Given the description of an element on the screen output the (x, y) to click on. 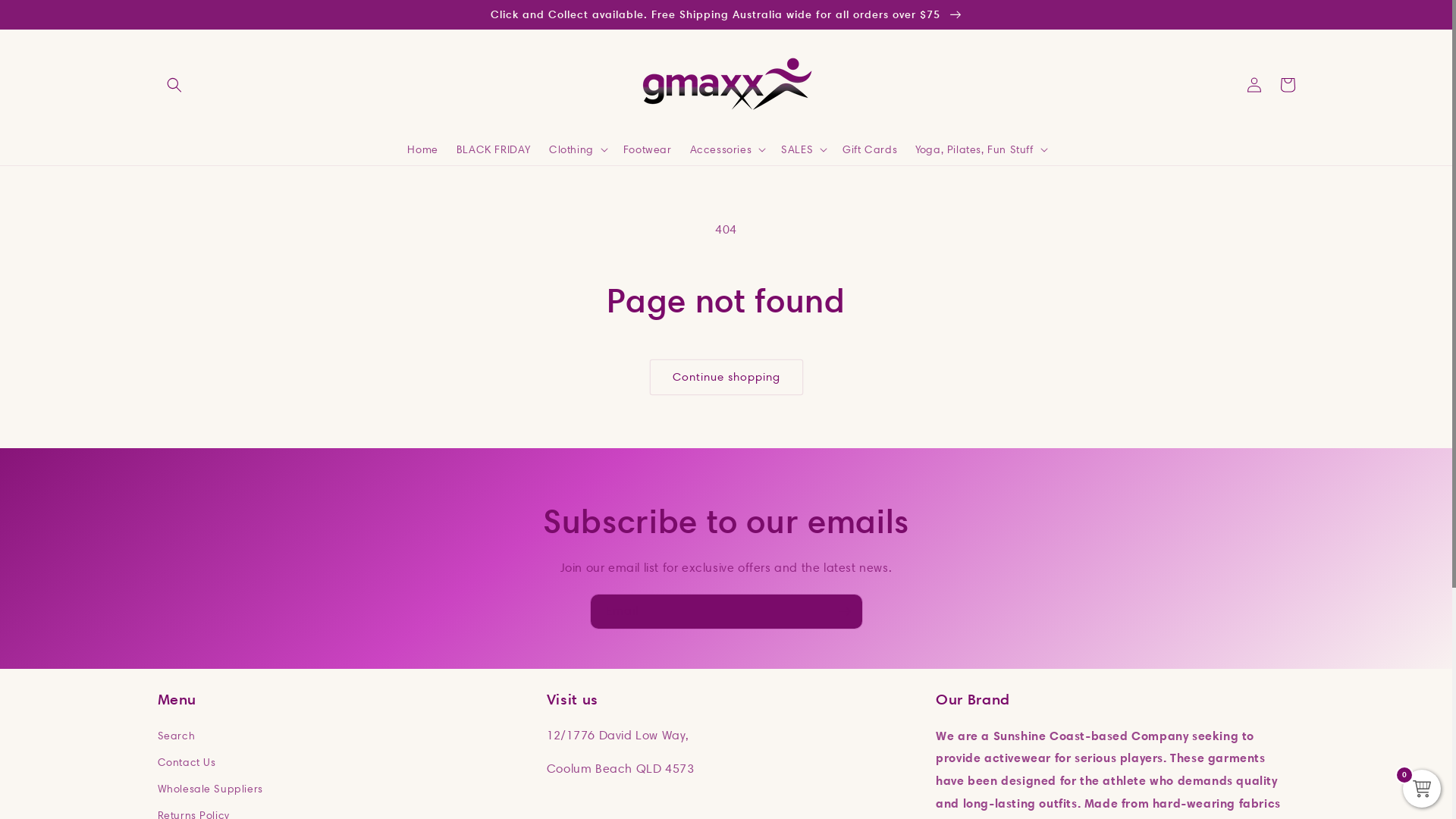
Continue shopping Element type: text (725, 377)
Log in Element type: text (1253, 84)
Home Element type: text (422, 149)
Contact Us Element type: text (186, 762)
BLACK FRIDAY Element type: text (493, 149)
Footwear Element type: text (647, 149)
Search Element type: text (176, 737)
0 Element type: text (1421, 788)
Gift Cards Element type: text (869, 149)
Wholesale Suppliers Element type: text (210, 788)
Cart Element type: text (1287, 84)
